Given the description of an element on the screen output the (x, y) to click on. 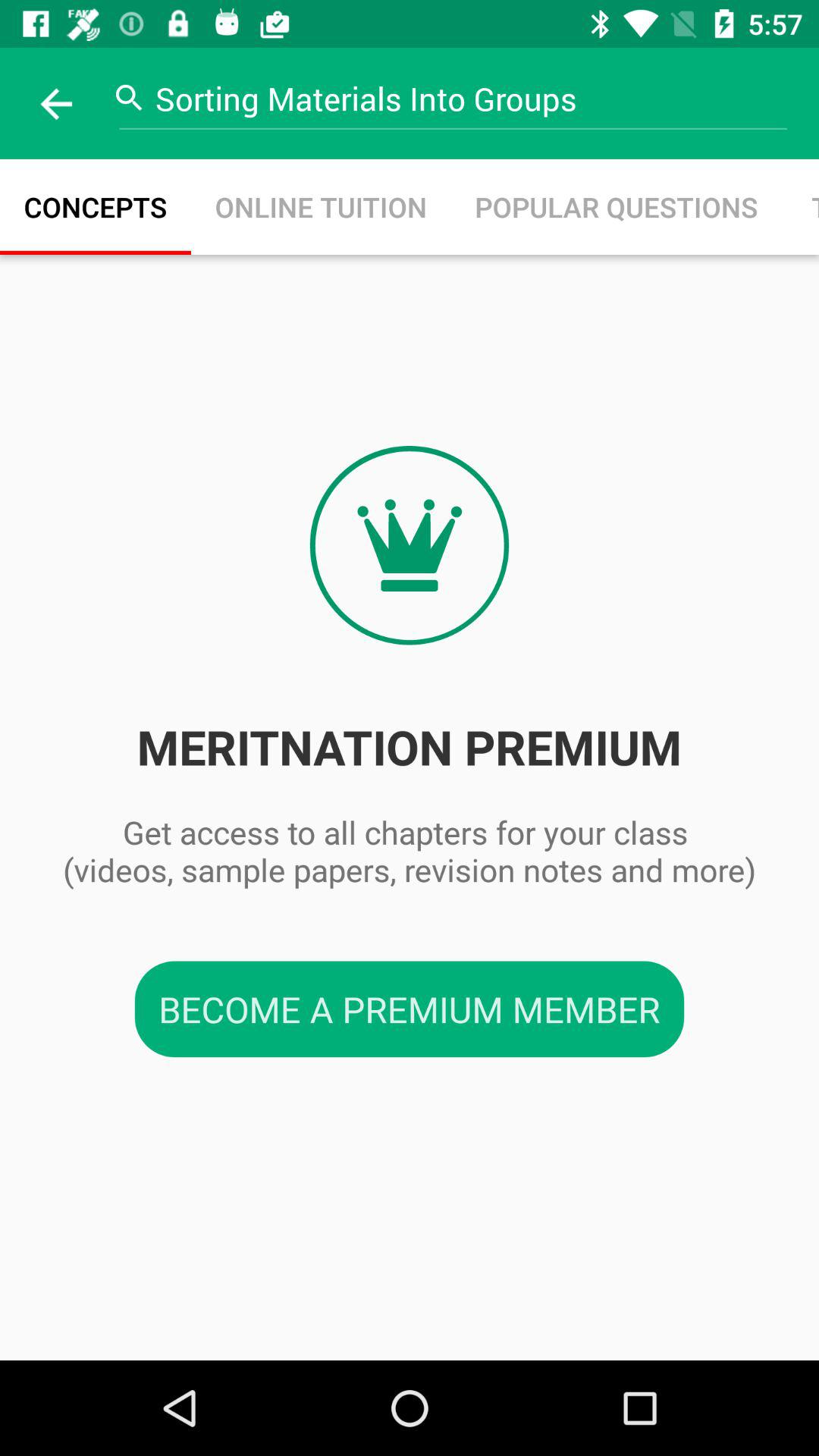
choose the item below get access to (409, 1009)
